Given the description of an element on the screen output the (x, y) to click on. 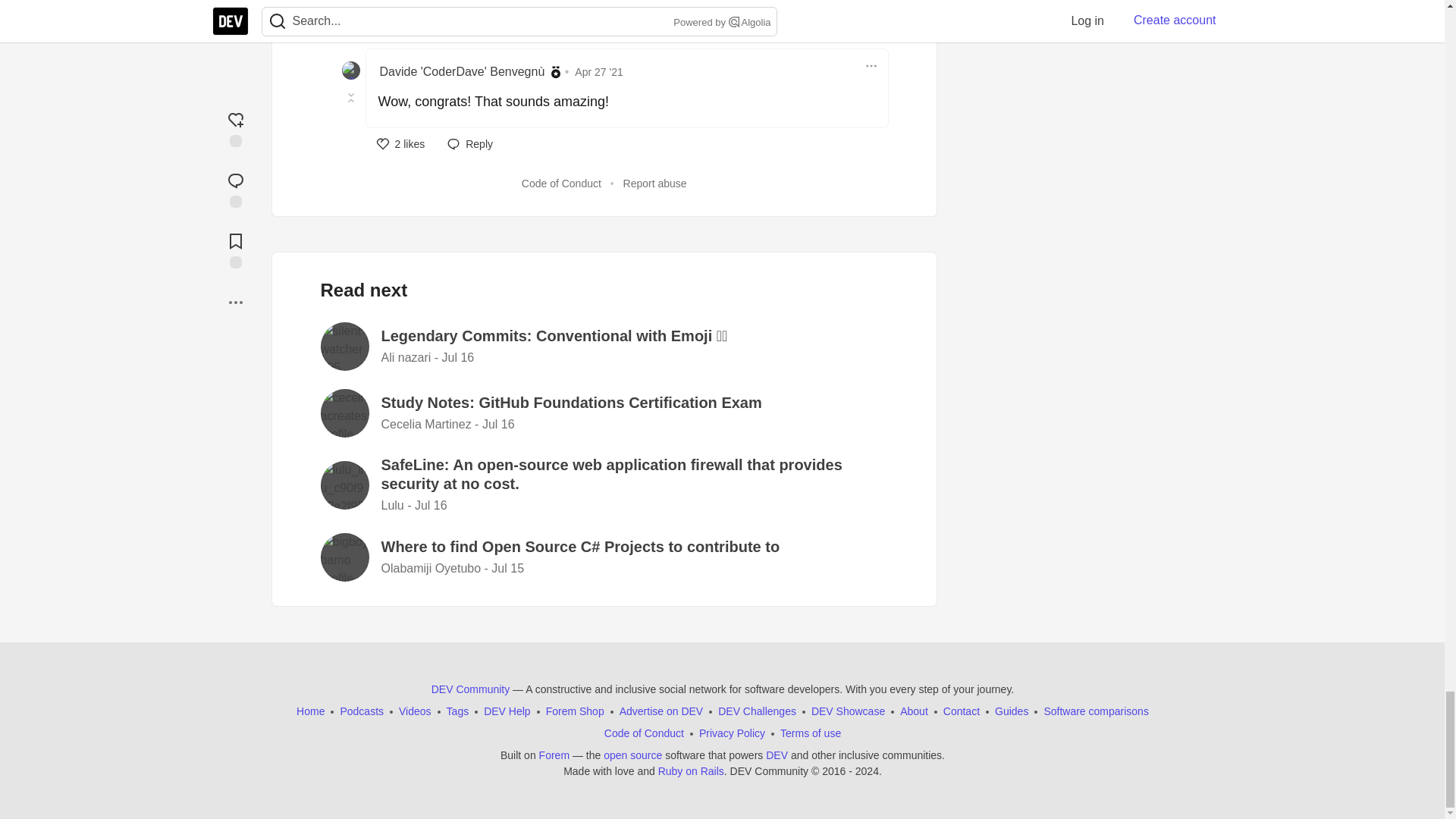
Dropdown menu (870, 65)
copyright (814, 770)
